Given the description of an element on the screen output the (x, y) to click on. 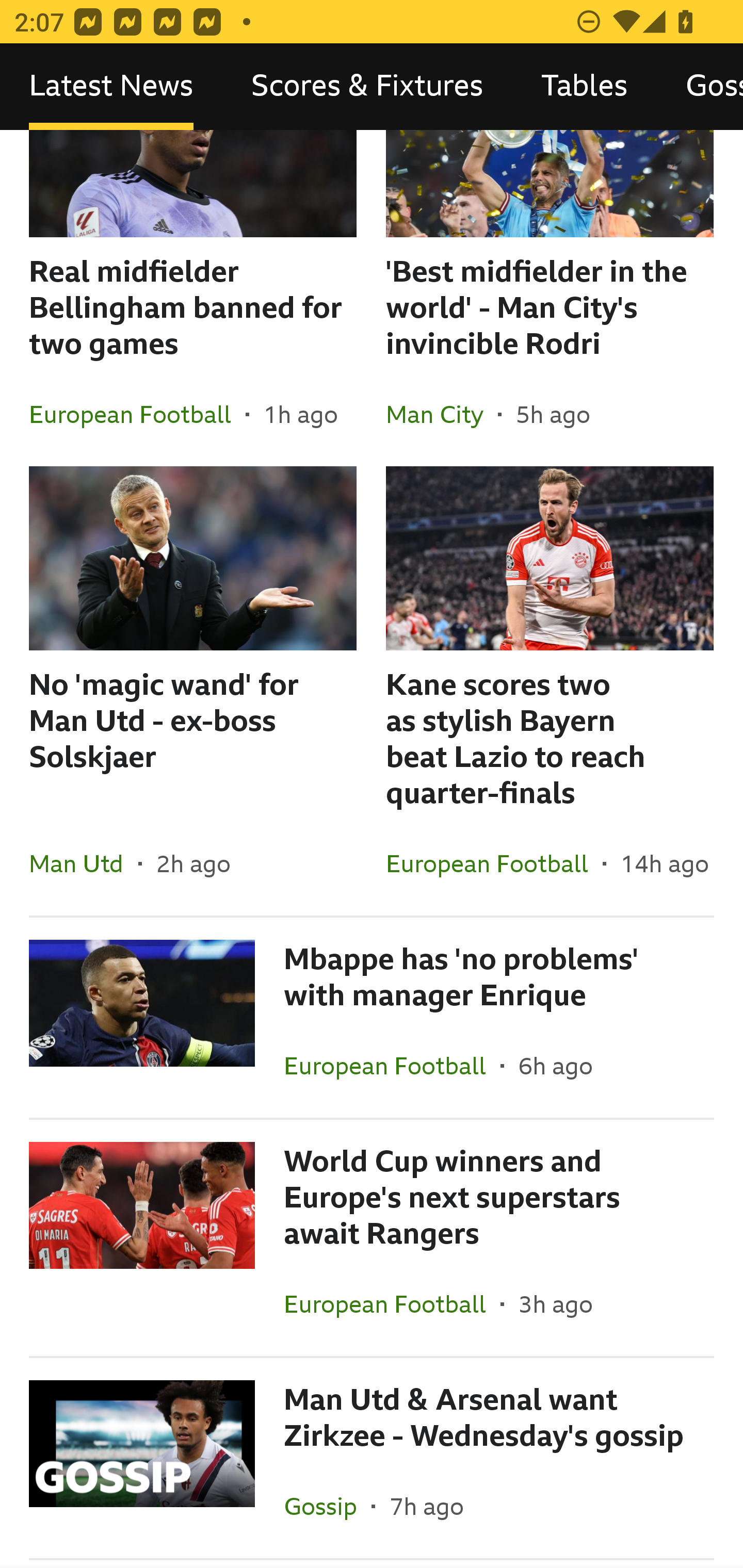
Latest News, selected Latest News (111, 86)
Scores & Fixtures (367, 86)
Tables (584, 86)
European Football In the section European Football (136, 413)
Man City In the section Man City (441, 413)
Man Utd In the section Man Utd (83, 862)
European Football In the section European Football (493, 862)
European Football In the section European Football (391, 1064)
European Football In the section European Football (391, 1303)
